Given the description of an element on the screen output the (x, y) to click on. 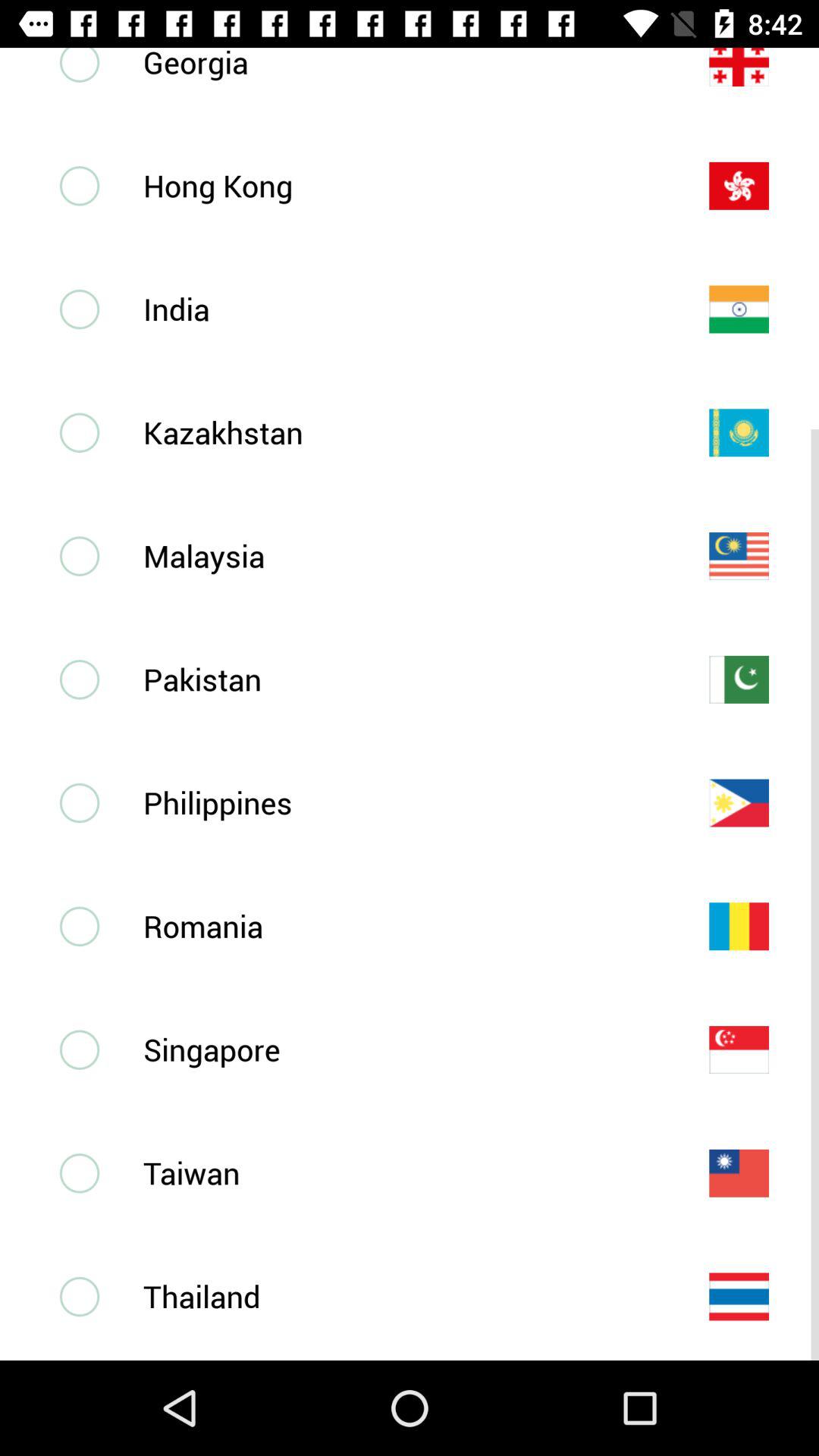
tap the philippines item (401, 802)
